Given the description of an element on the screen output the (x, y) to click on. 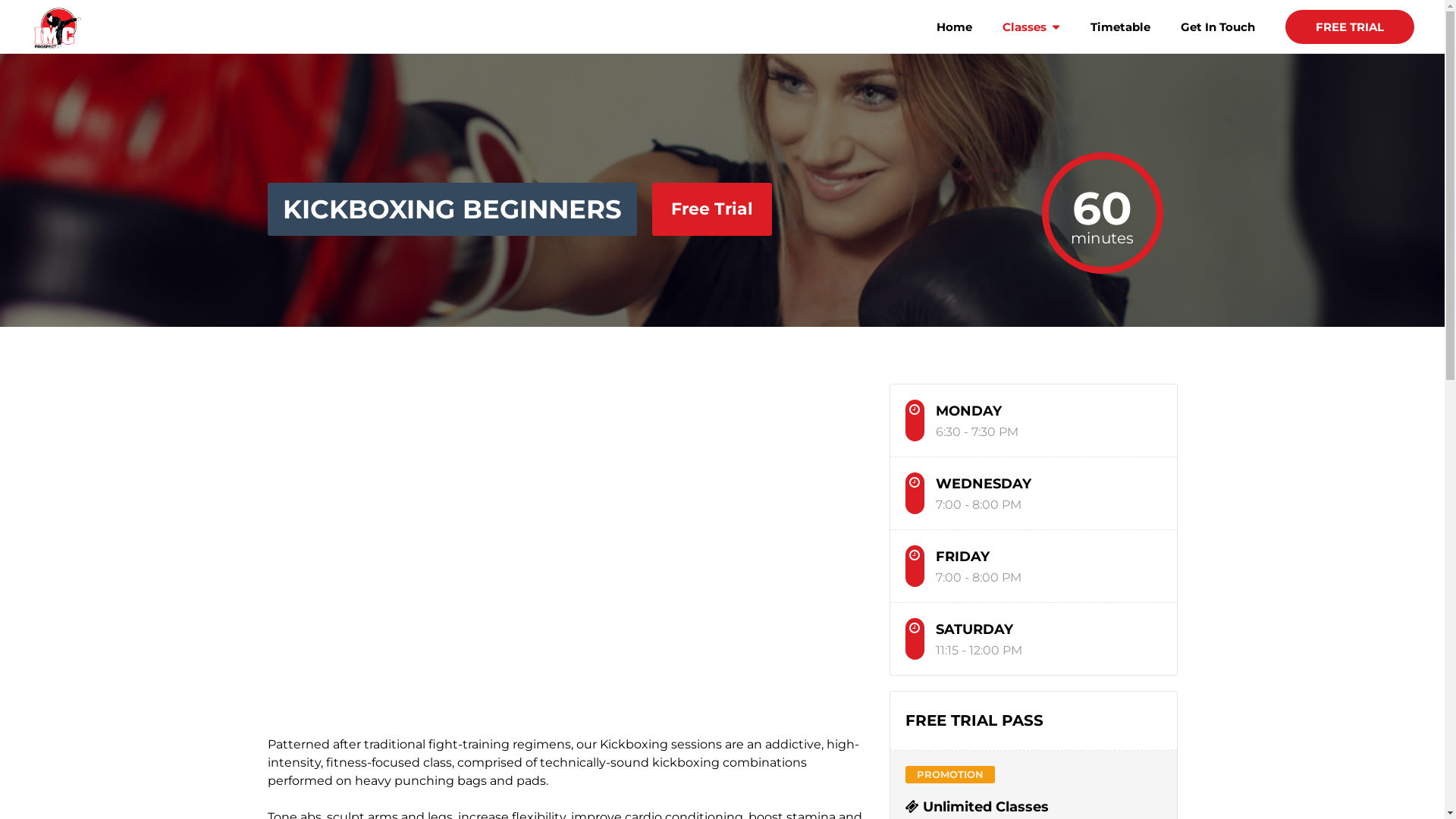
FREE TRIAL Element type: text (1349, 26)
Get In Touch Element type: text (1217, 44)
Free Trial Element type: text (711, 208)
Timetable Element type: text (1120, 44)
Classes Element type: text (1031, 44)
Home Element type: text (954, 44)
